Given the description of an element on the screen output the (x, y) to click on. 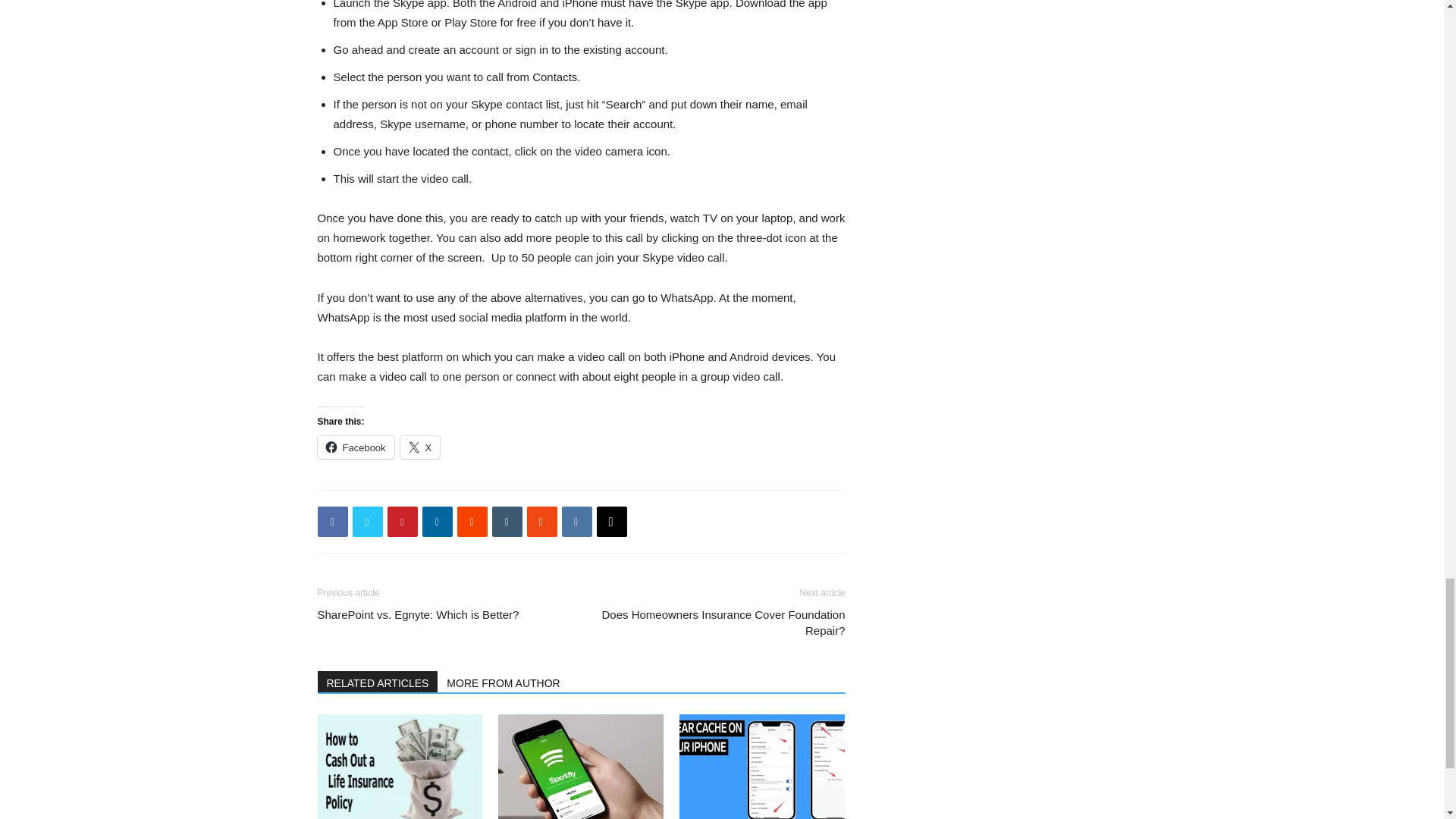
Mix (540, 521)
Facebook (332, 521)
Digg (610, 521)
Facebook (355, 446)
Pinterest (401, 521)
How to Cash Out a Life Insurance Policy (399, 766)
Twitter (366, 521)
ReddIt (471, 521)
Linkedin (436, 521)
Click to share on Facebook (355, 446)
Tumblr (506, 521)
VK (575, 521)
Click to share on X (420, 446)
X (420, 446)
